Given the description of an element on the screen output the (x, y) to click on. 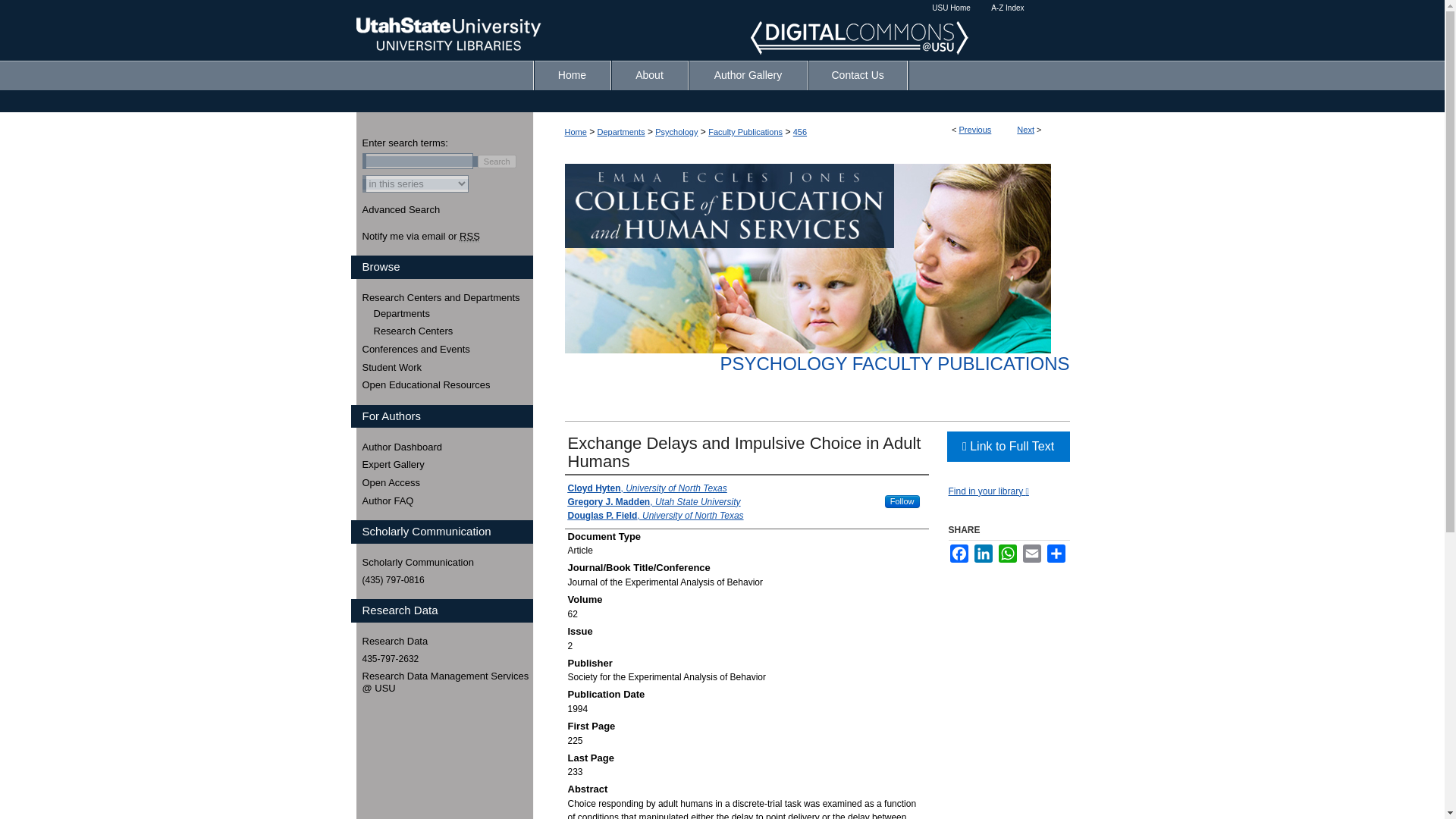
Faculty Publications (745, 131)
Find in your library (987, 491)
Email or RSS Notifications (447, 236)
Douglas P. Field, University of North Texas (654, 515)
USU Home (951, 8)
Home (572, 75)
Search (496, 161)
About (649, 75)
Search (496, 161)
USU Home (951, 8)
PSYCHOLOGY FACULTY PUBLICATIONS (893, 362)
Author Gallery (748, 75)
Follow Gregory J. Madden (902, 501)
WhatsApp (1006, 553)
Author Gallery (748, 75)
